Given the description of an element on the screen output the (x, y) to click on. 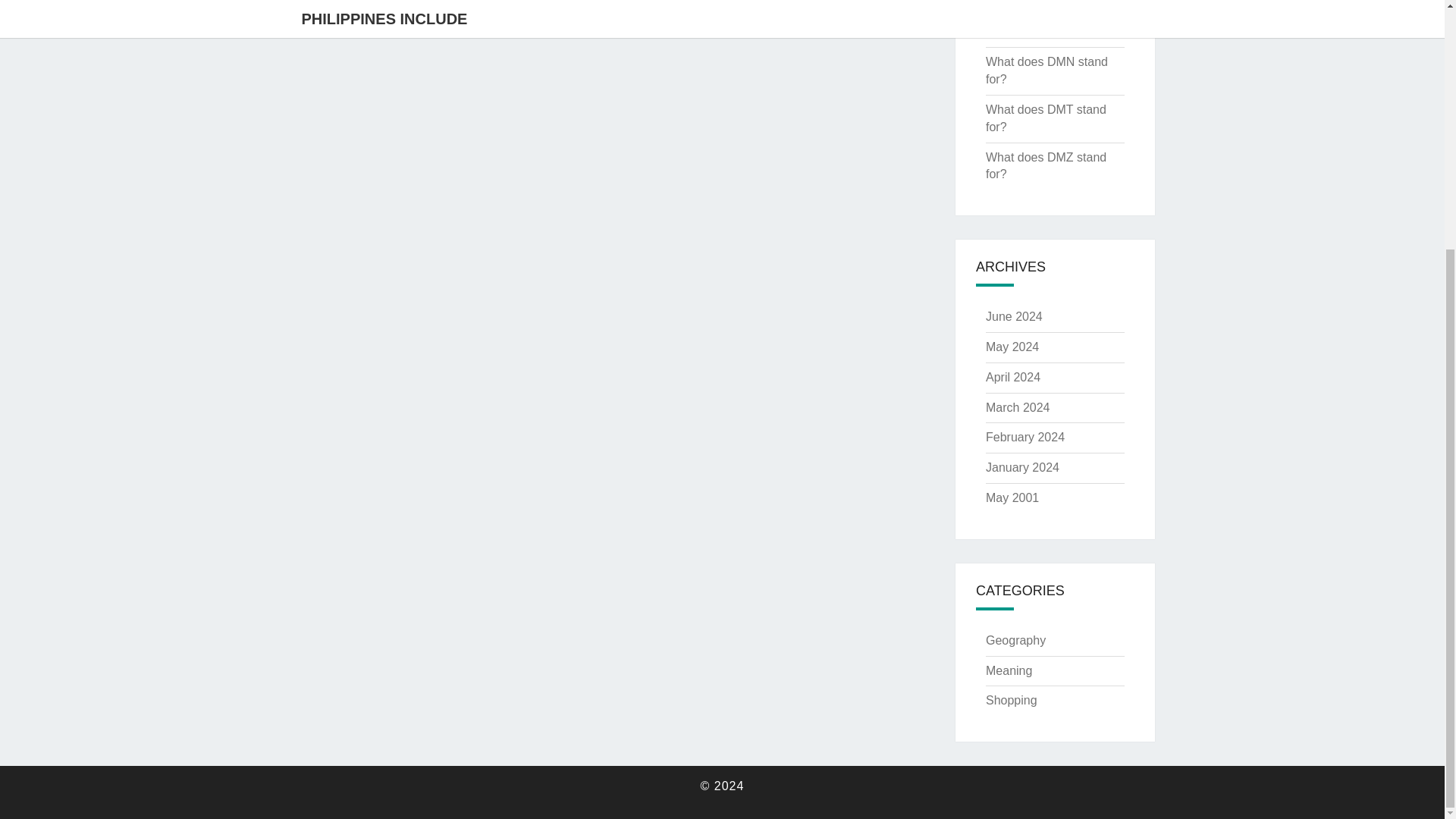
June 2024 (1013, 316)
What does DMI stand for? (1043, 4)
May 2024 (1012, 346)
What does DMN stand for? (1046, 70)
January 2024 (1022, 467)
May 2001 (1012, 497)
What does DMZ stand for? (1045, 165)
April 2024 (1013, 377)
March 2024 (1017, 407)
February 2024 (1024, 436)
What does DMT stand for? (1045, 118)
Geography (1015, 640)
Quartz Wall Clocks (1036, 31)
Meaning (1008, 670)
Shopping (1010, 699)
